Given the description of an element on the screen output the (x, y) to click on. 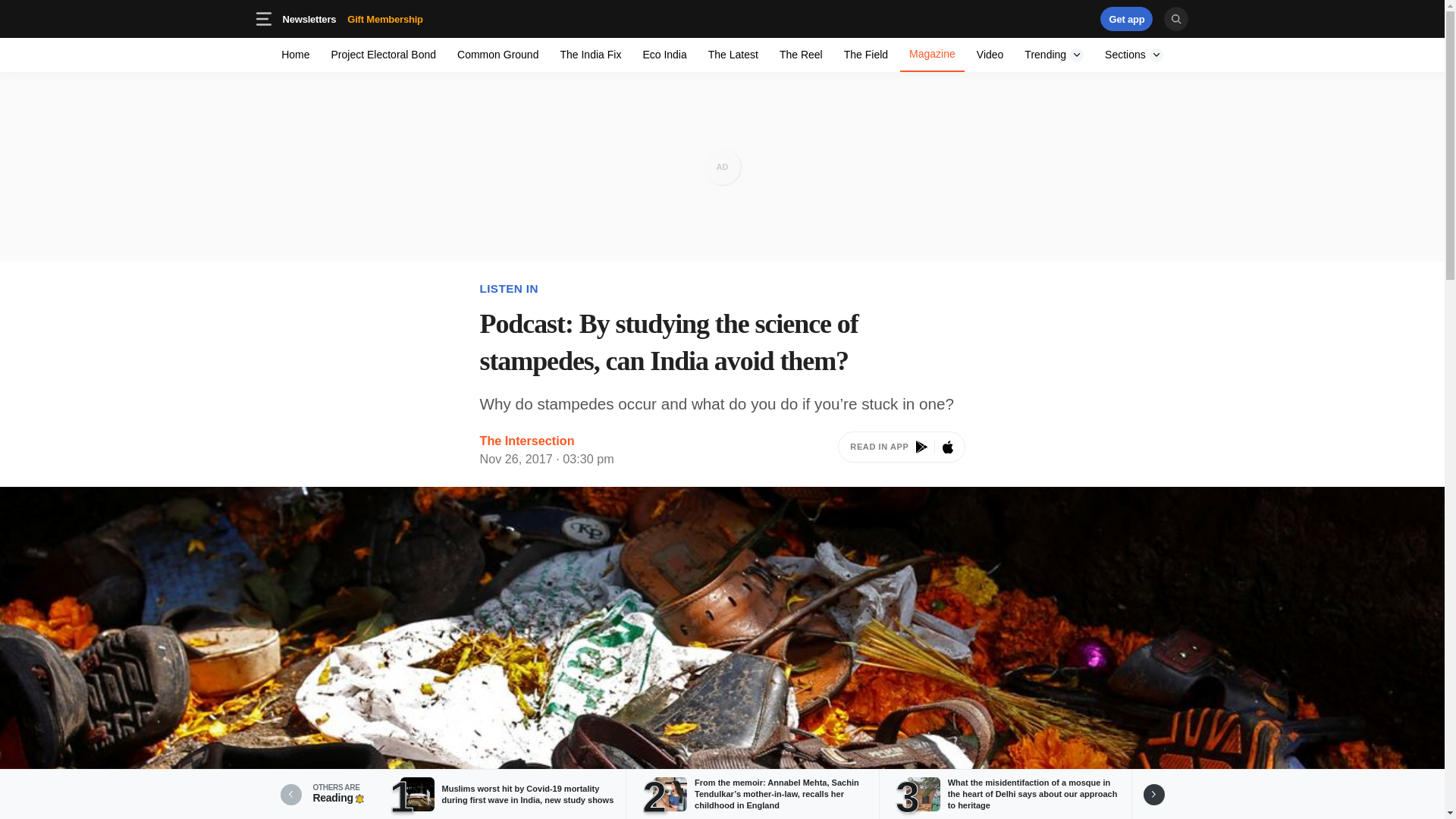
Sections (1134, 54)
Home (295, 54)
READ IN APP (900, 449)
Magazine (352, 18)
Gift Membership (931, 54)
The Field (385, 18)
Trending (865, 54)
Eco India (1053, 54)
The Latest (664, 54)
The Reel (732, 54)
Get app (800, 54)
The India Fix (1126, 18)
Video (590, 54)
Common Ground (990, 54)
